Given the description of an element on the screen output the (x, y) to click on. 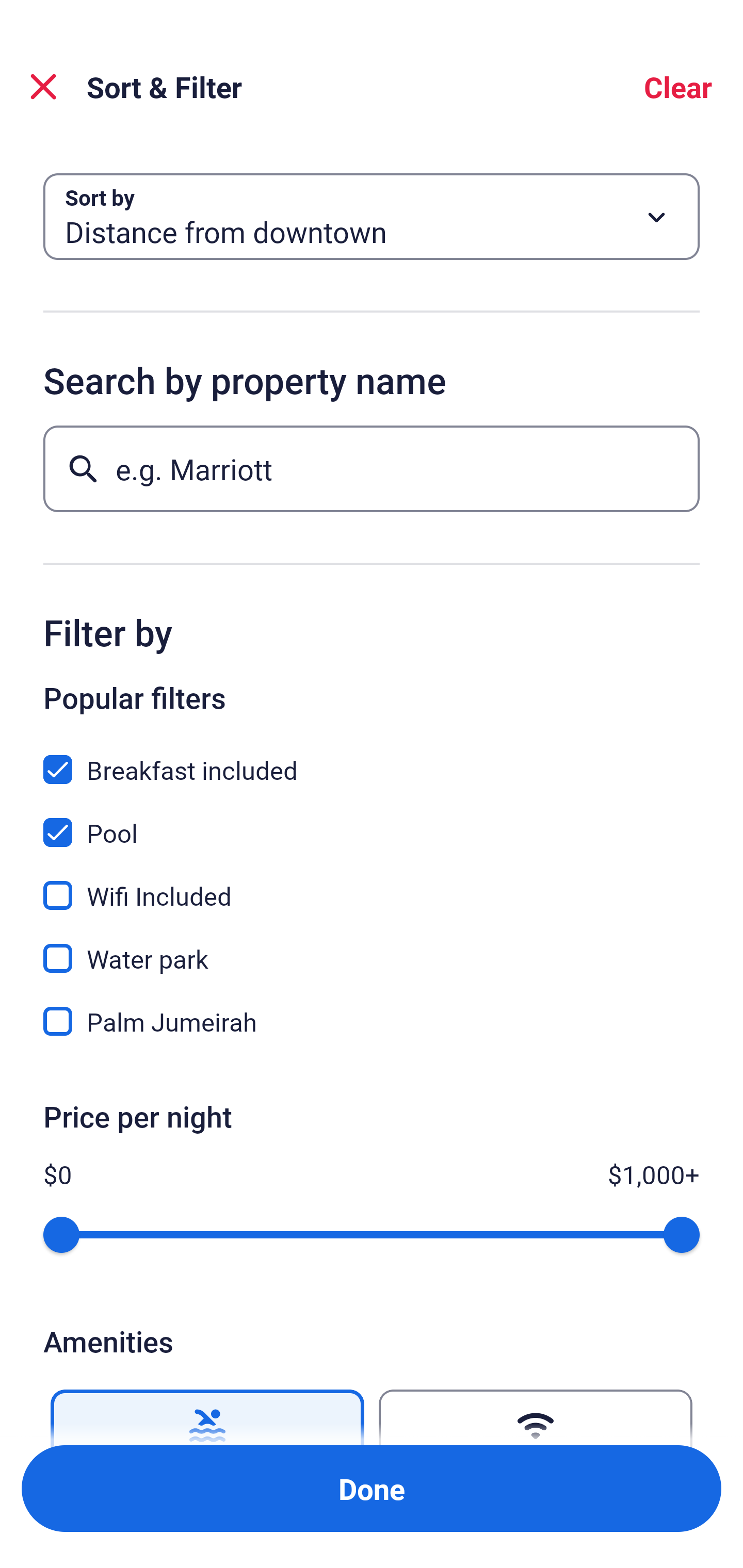
Close Sort and Filter (43, 86)
Clear (677, 86)
Sort by Button Distance from downtown (371, 217)
e.g. Marriott Button (371, 468)
Breakfast included, Breakfast included (371, 757)
Pool, Pool (371, 821)
Wifi Included, Wifi Included (371, 883)
Water park, Water park (371, 946)
Palm Jumeirah, Palm Jumeirah (371, 1021)
Apply and close Sort and Filter Done (371, 1488)
